Given the description of an element on the screen output the (x, y) to click on. 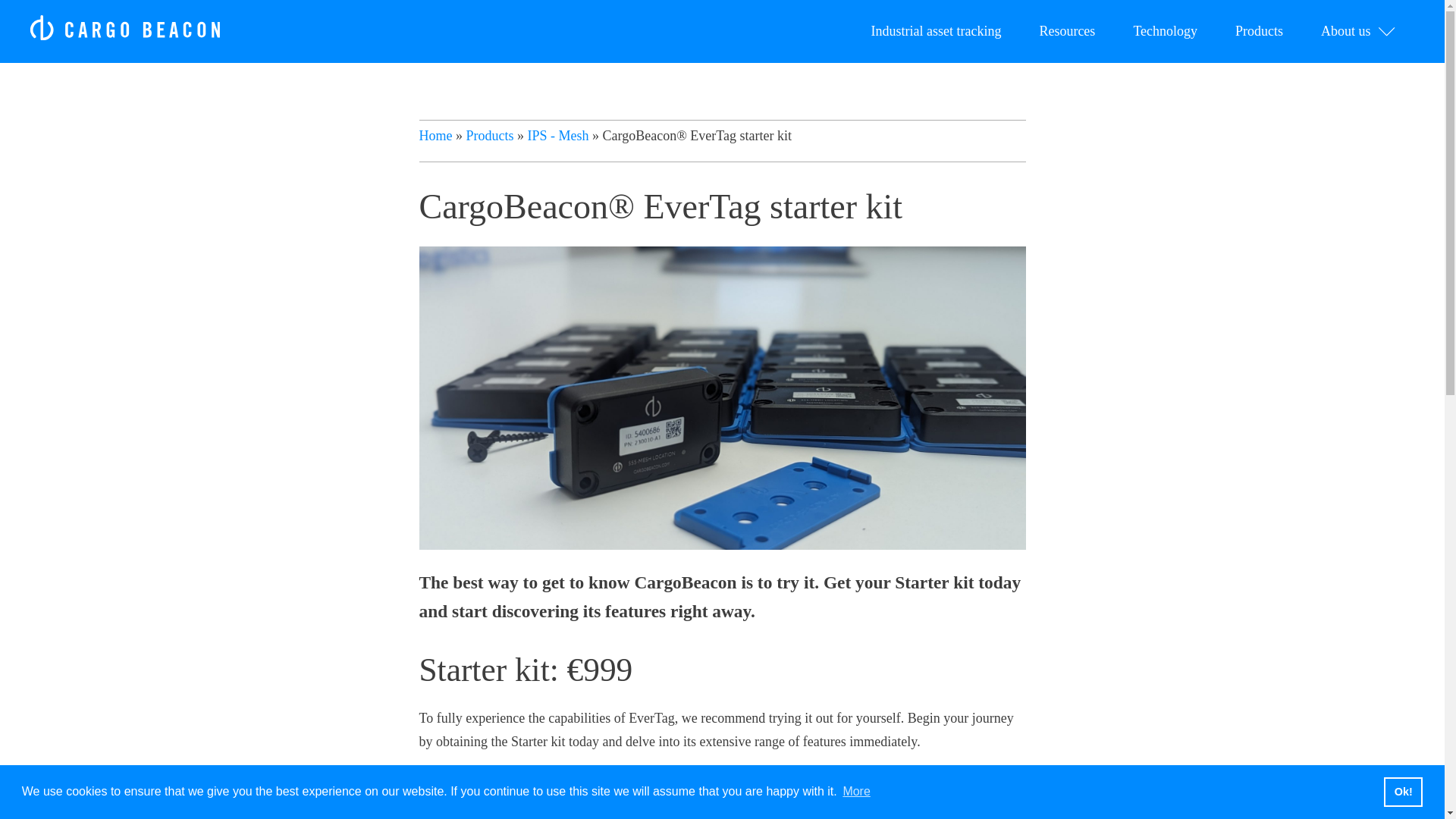
Ok! (1403, 791)
Home (435, 135)
More (856, 791)
IPS - Mesh (558, 135)
About us (1358, 31)
Products (1258, 31)
Products (489, 135)
Resources (1066, 31)
Industrial asset tracking (936, 31)
Technology (1165, 31)
